Given the description of an element on the screen output the (x, y) to click on. 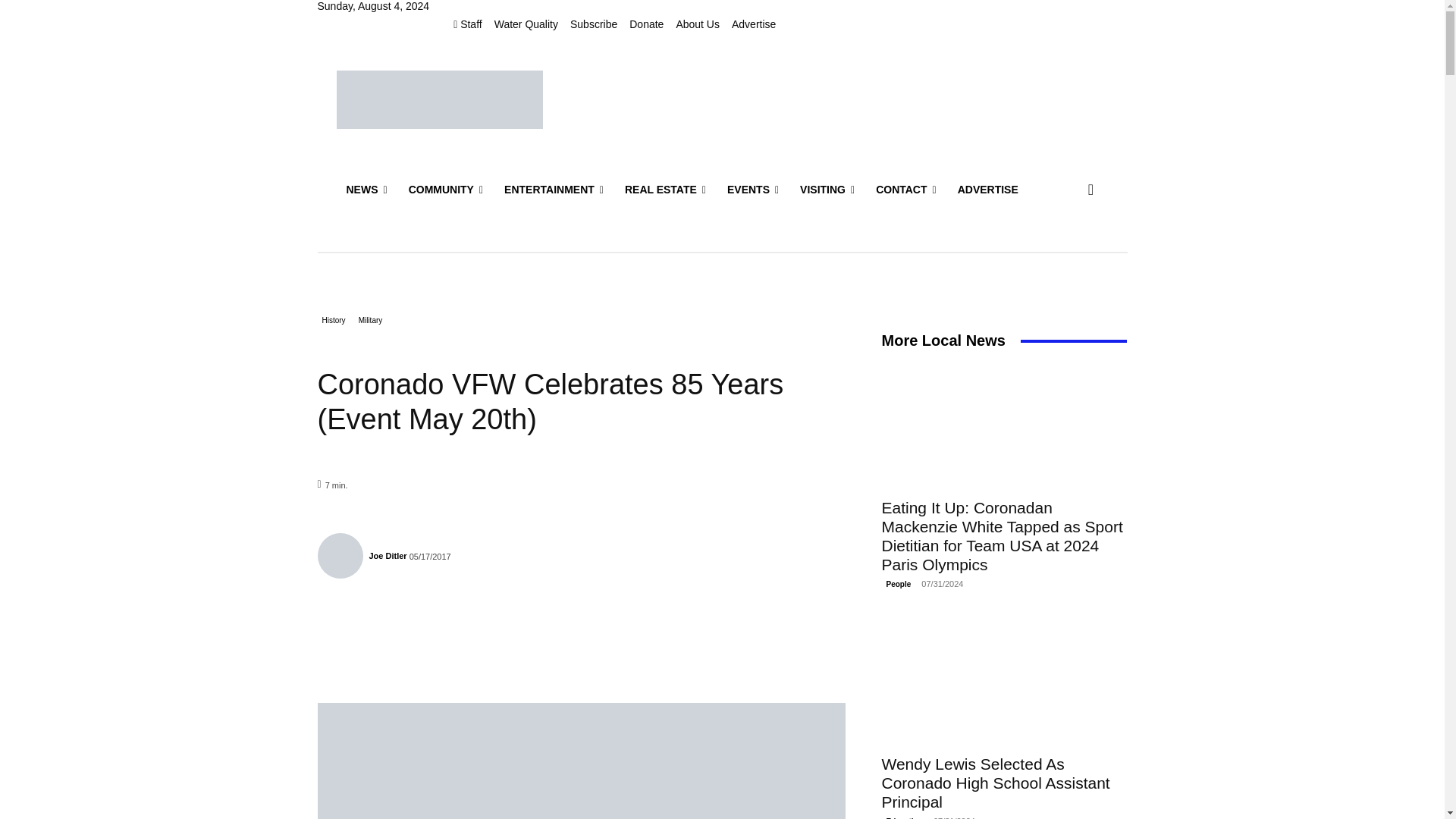
The Coronado Times (439, 99)
The Coronado Times (439, 99)
